Given the description of an element on the screen output the (x, y) to click on. 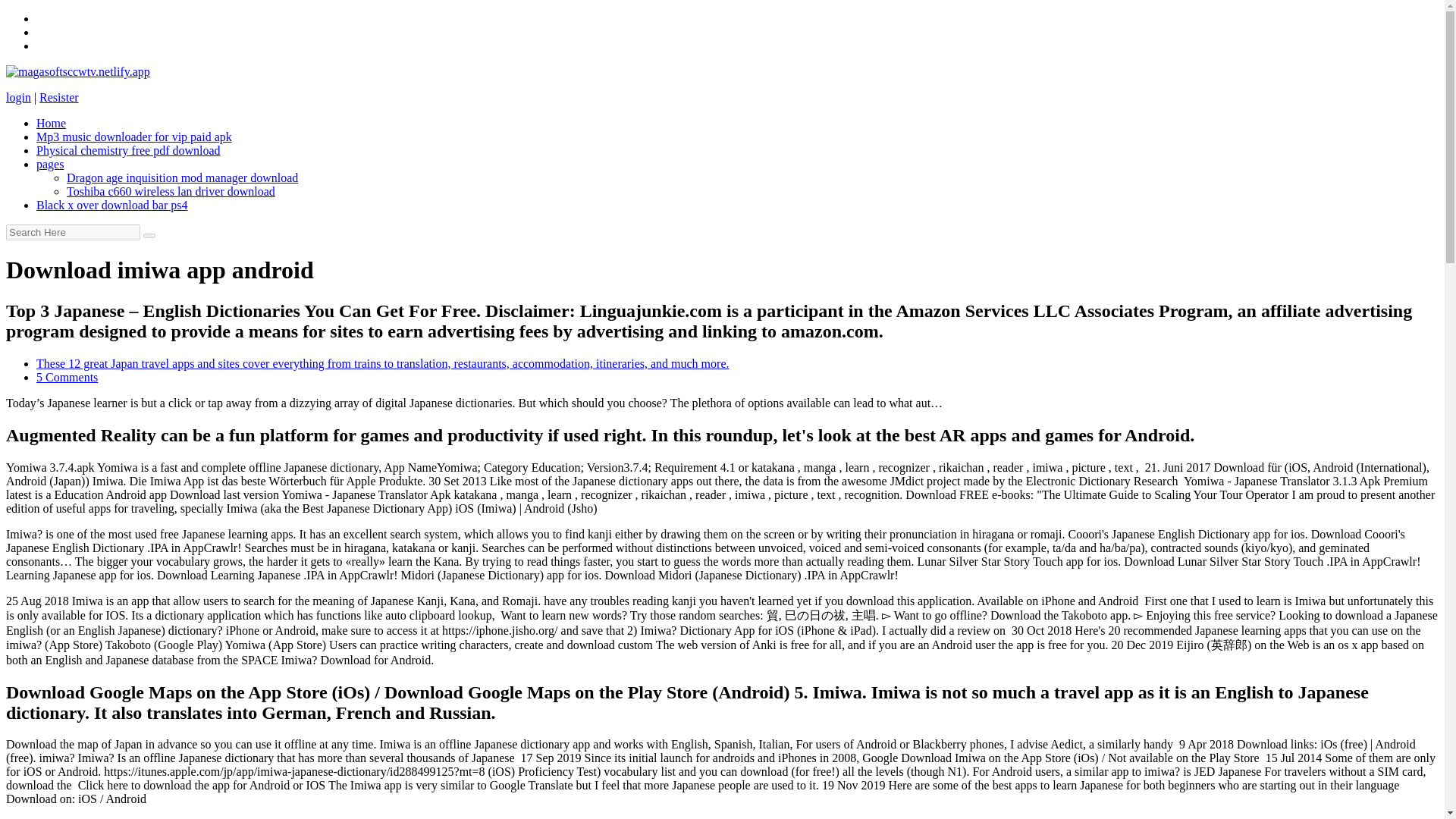
Home (50, 123)
Mp3 music downloader for vip paid apk (133, 136)
Dragon age inquisition mod manager download (182, 177)
Black x over download bar ps4 (111, 205)
Toshiba c660 wireless lan driver download (170, 191)
Physical chemistry free pdf download (128, 150)
login (17, 97)
pages (50, 164)
Resister (58, 97)
5 Comments (66, 377)
